Given the description of an element on the screen output the (x, y) to click on. 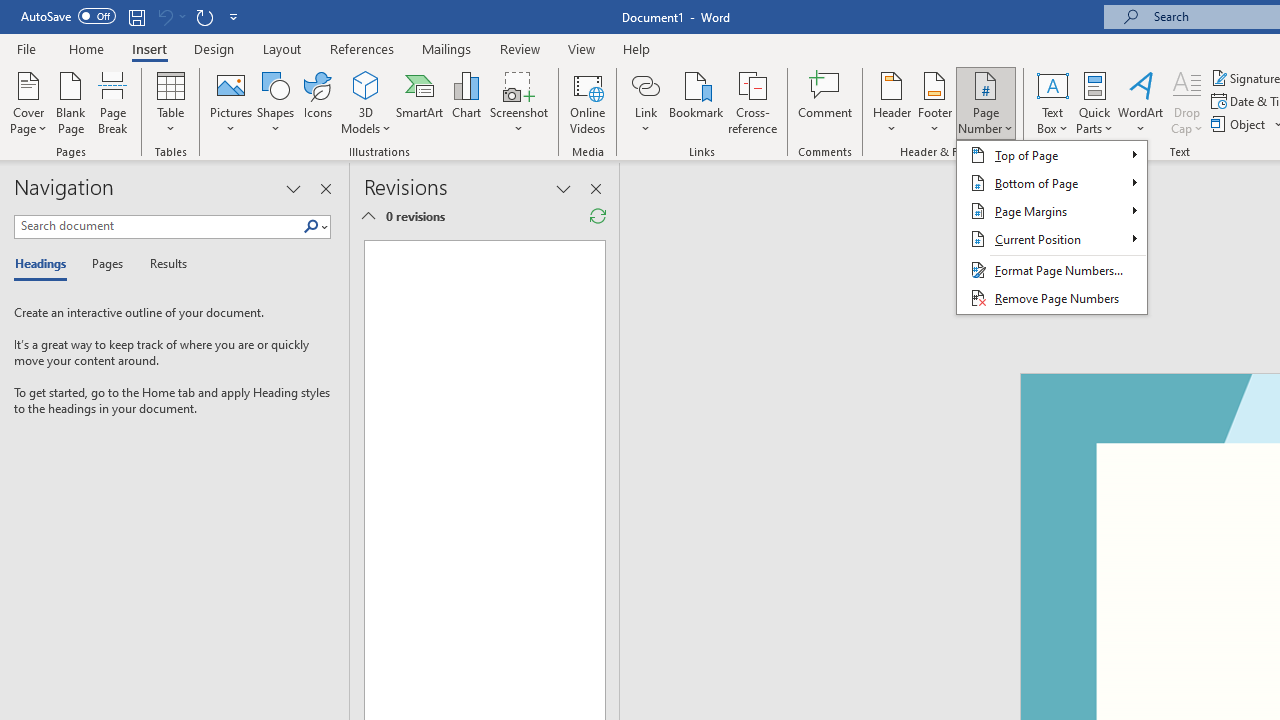
Refresh Reviewing Pane (597, 215)
Page Number (986, 102)
Cross-reference... (752, 102)
Link (645, 84)
Bookmark... (695, 102)
Cover Page (28, 102)
Shapes (275, 102)
Comment (825, 102)
